Given the description of an element on the screen output the (x, y) to click on. 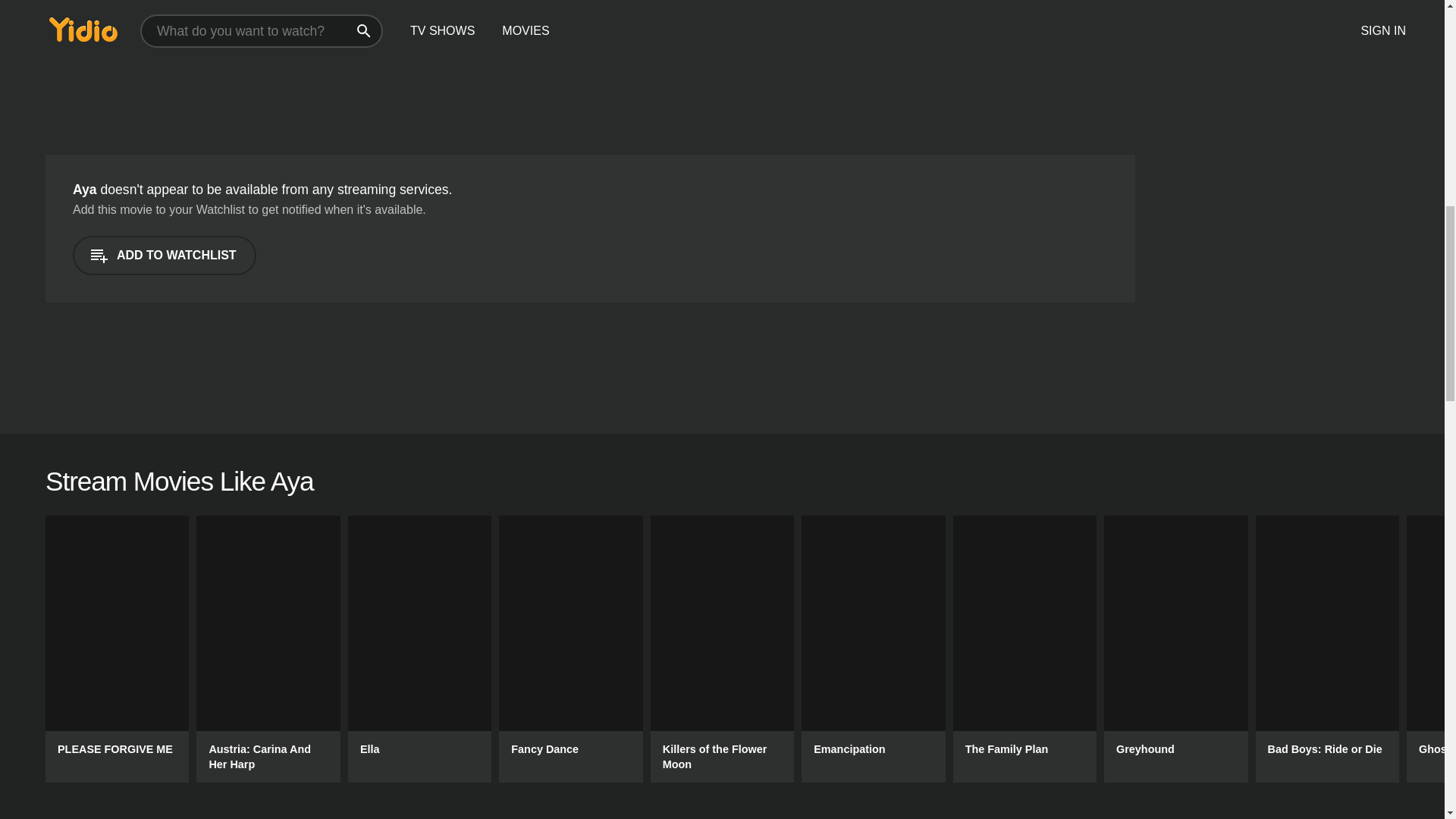
Advertisement (221, 63)
ADD TO WATCHLIST (164, 255)
